Given the description of an element on the screen output the (x, y) to click on. 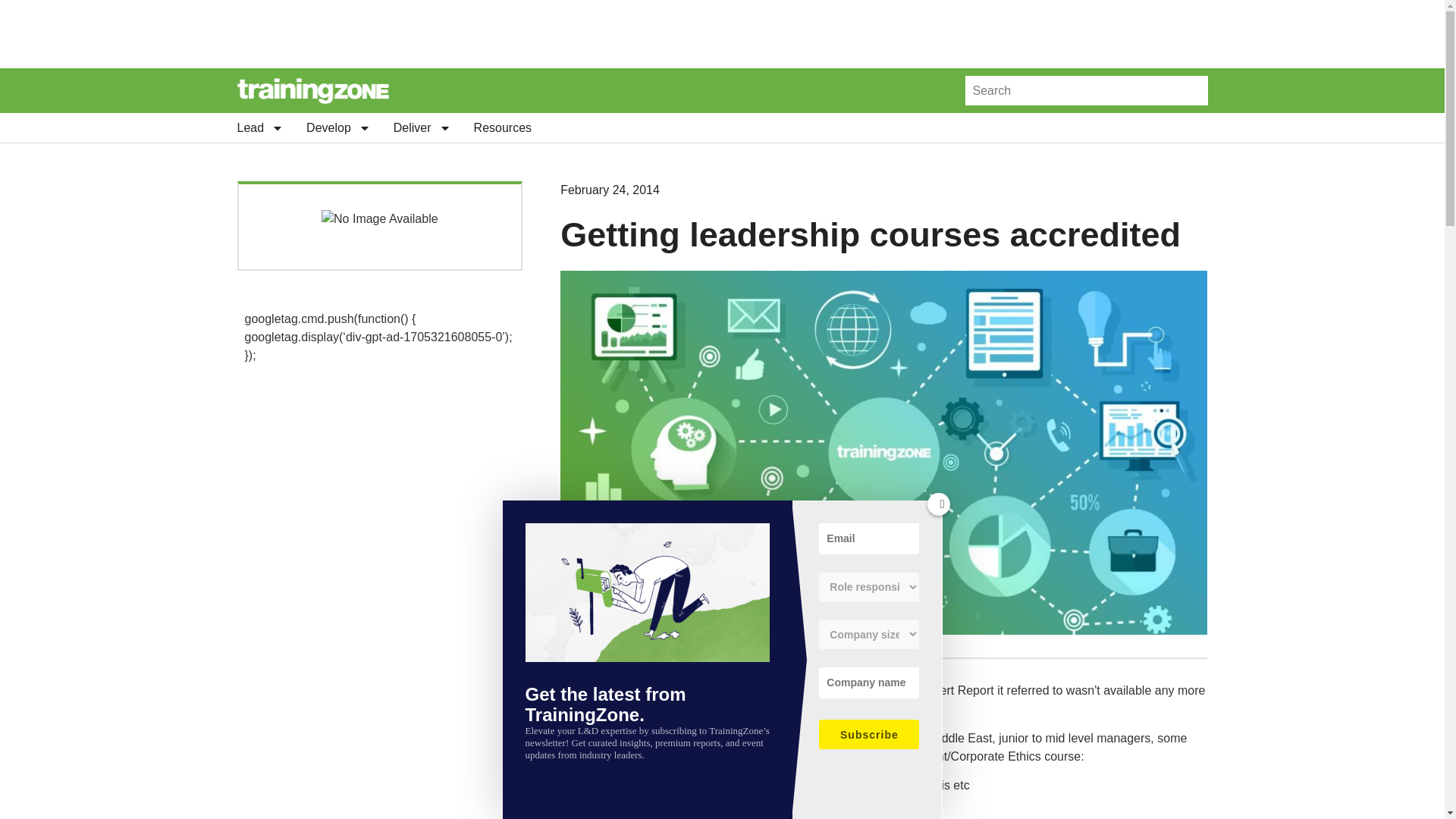
Lead (259, 127)
Develop (338, 127)
Deliver (422, 127)
Resources (502, 127)
